Given the description of an element on the screen output the (x, y) to click on. 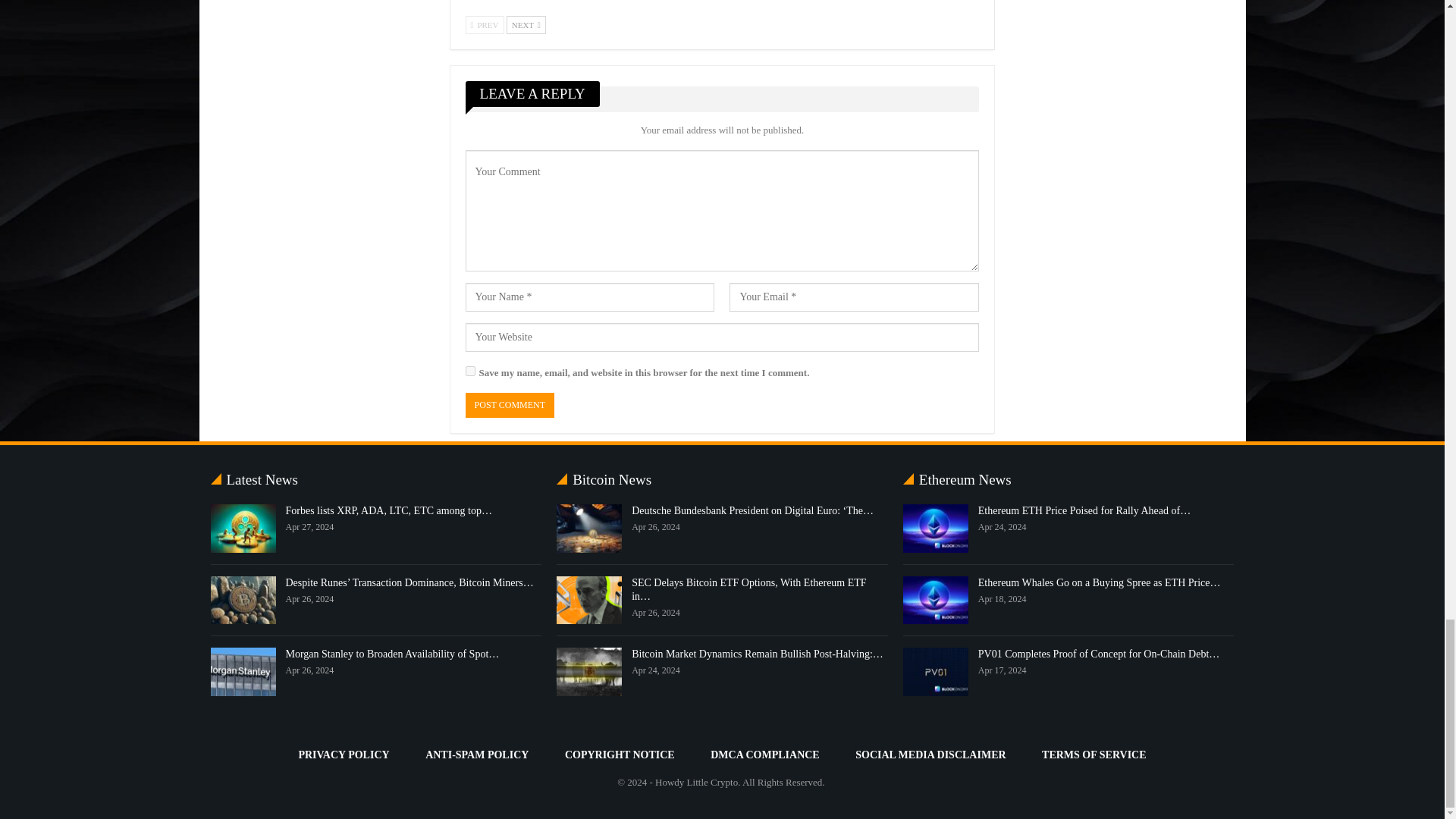
yes (470, 370)
Post Comment (509, 405)
